Given the description of an element on the screen output the (x, y) to click on. 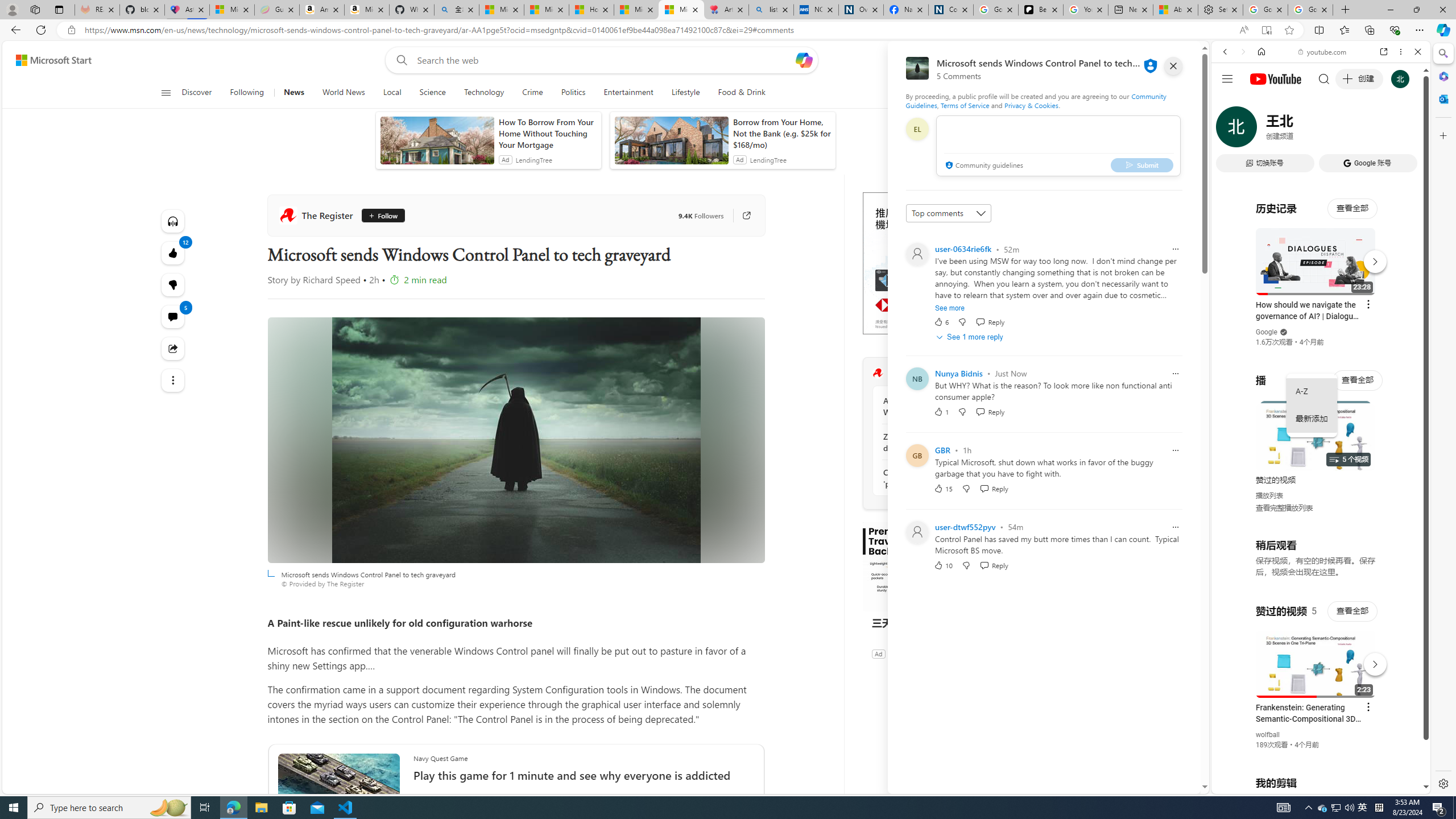
The Register (877, 372)
This site scope (1259, 102)
Sort comments by (948, 212)
Be Smart | creating Science videos | Patreon (1040, 9)
Privacy & Cookies (1031, 104)
15 Like (942, 488)
The Register (318, 215)
Lifestyle (685, 92)
Trailer #2 [HD] (1320, 337)
